Given the description of an element on the screen output the (x, y) to click on. 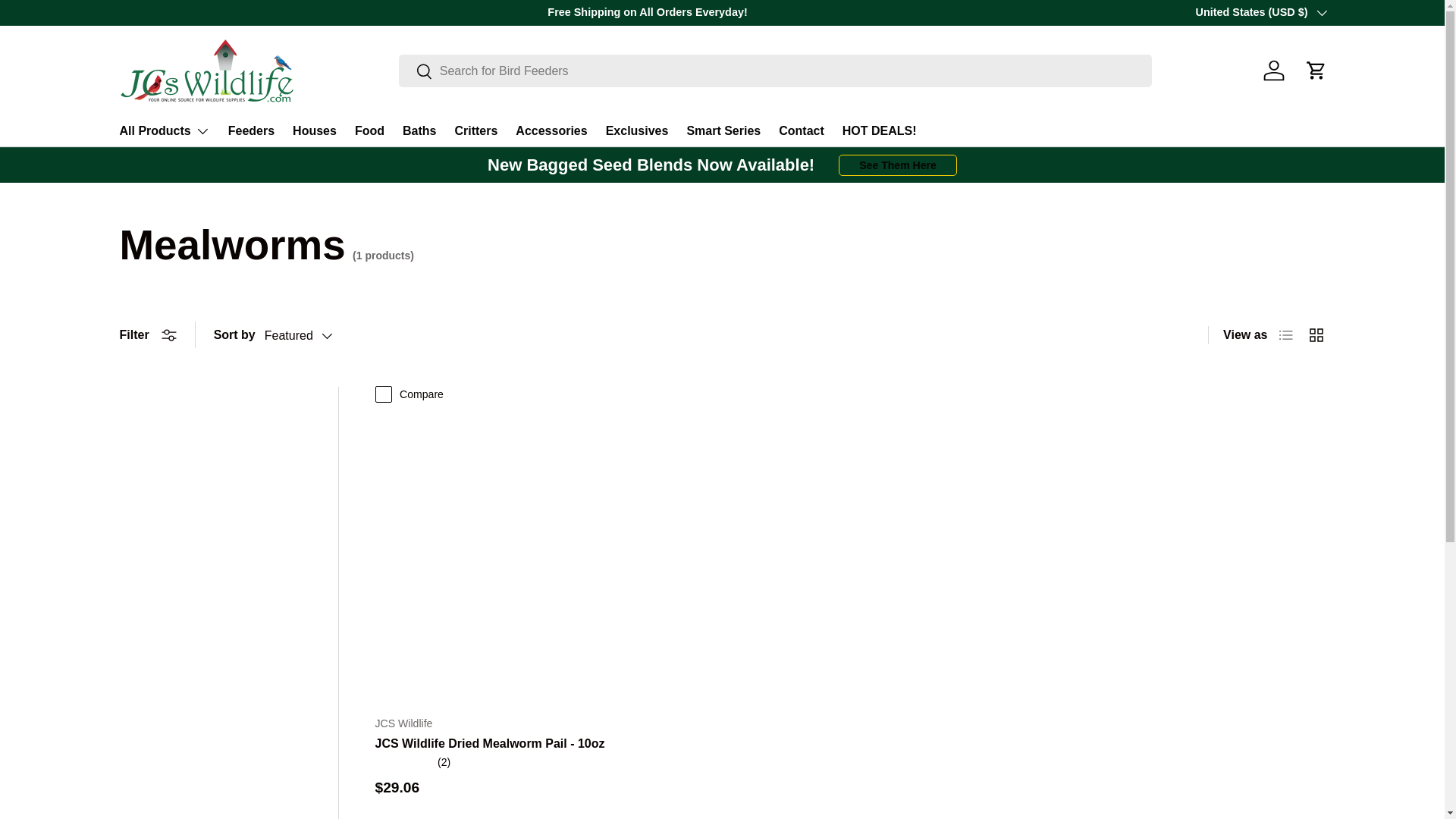
Filter (147, 335)
JCS Wildlife Dried Mealworm Pail - 10oz (489, 743)
All Products (164, 131)
Log in (1273, 70)
Featured (313, 335)
Smart Series (722, 130)
Search (415, 72)
Contact (801, 130)
Exclusives (636, 130)
